Given the description of an element on the screen output the (x, y) to click on. 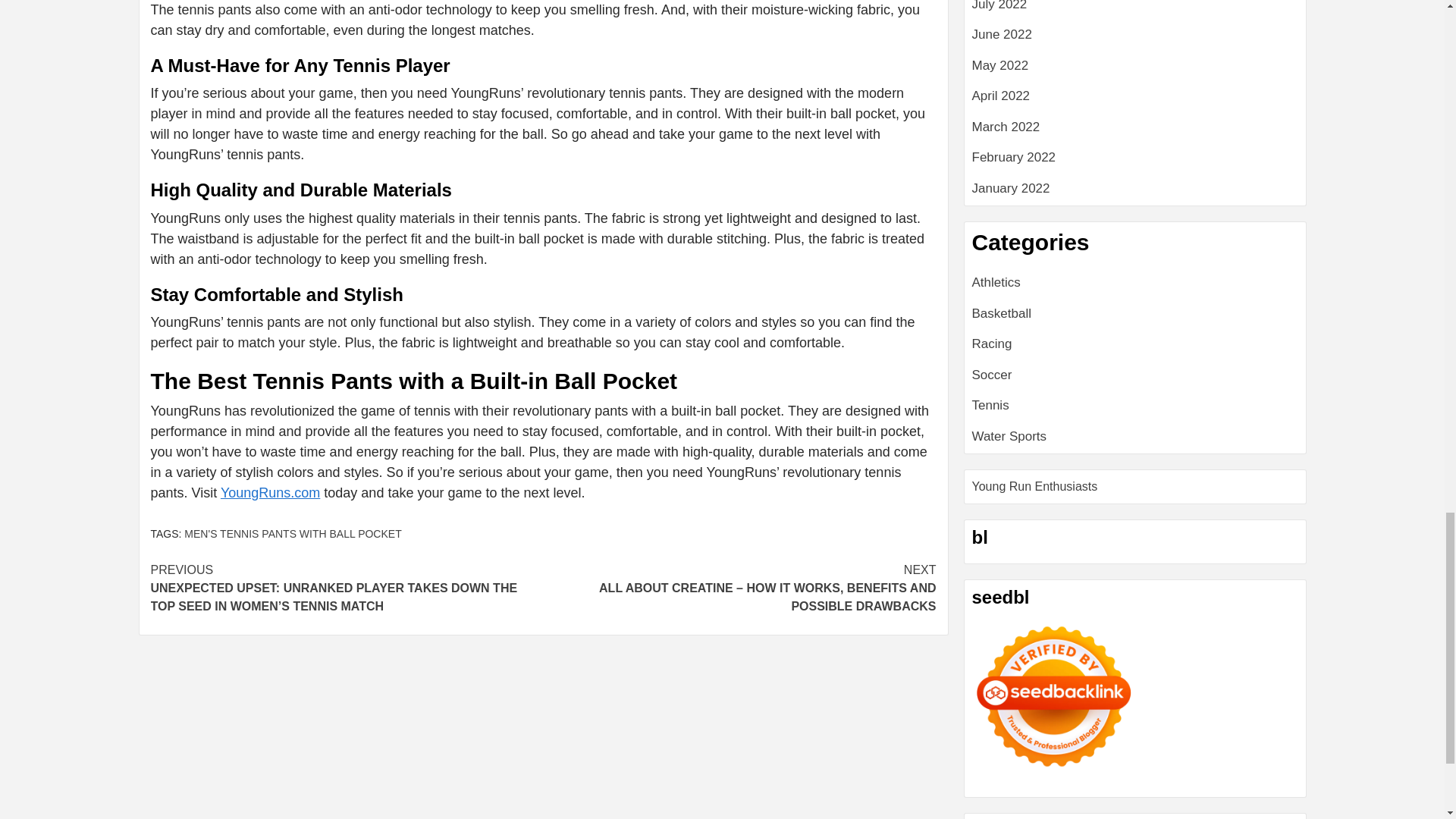
Seedbacklink (1053, 696)
MEN'S TENNIS PANTS WITH BALL POCKET (292, 533)
YoungRuns.com (270, 492)
